Given the description of an element on the screen output the (x, y) to click on. 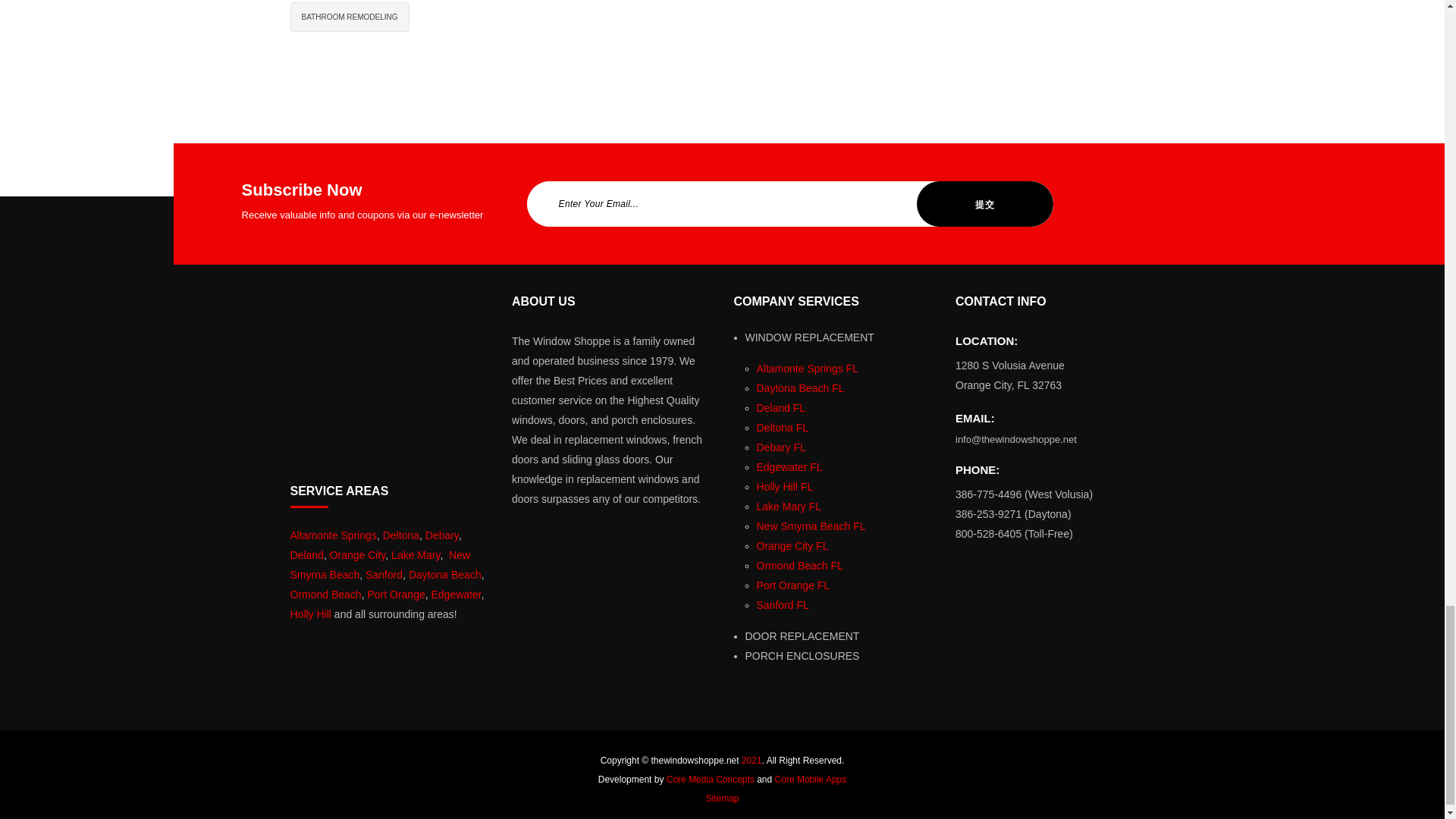
Deltona (400, 535)
Debary (441, 535)
Deland (306, 554)
BATHROOM REMODELING (350, 17)
Altamonte Springs (332, 535)
